Given the description of an element on the screen output the (x, y) to click on. 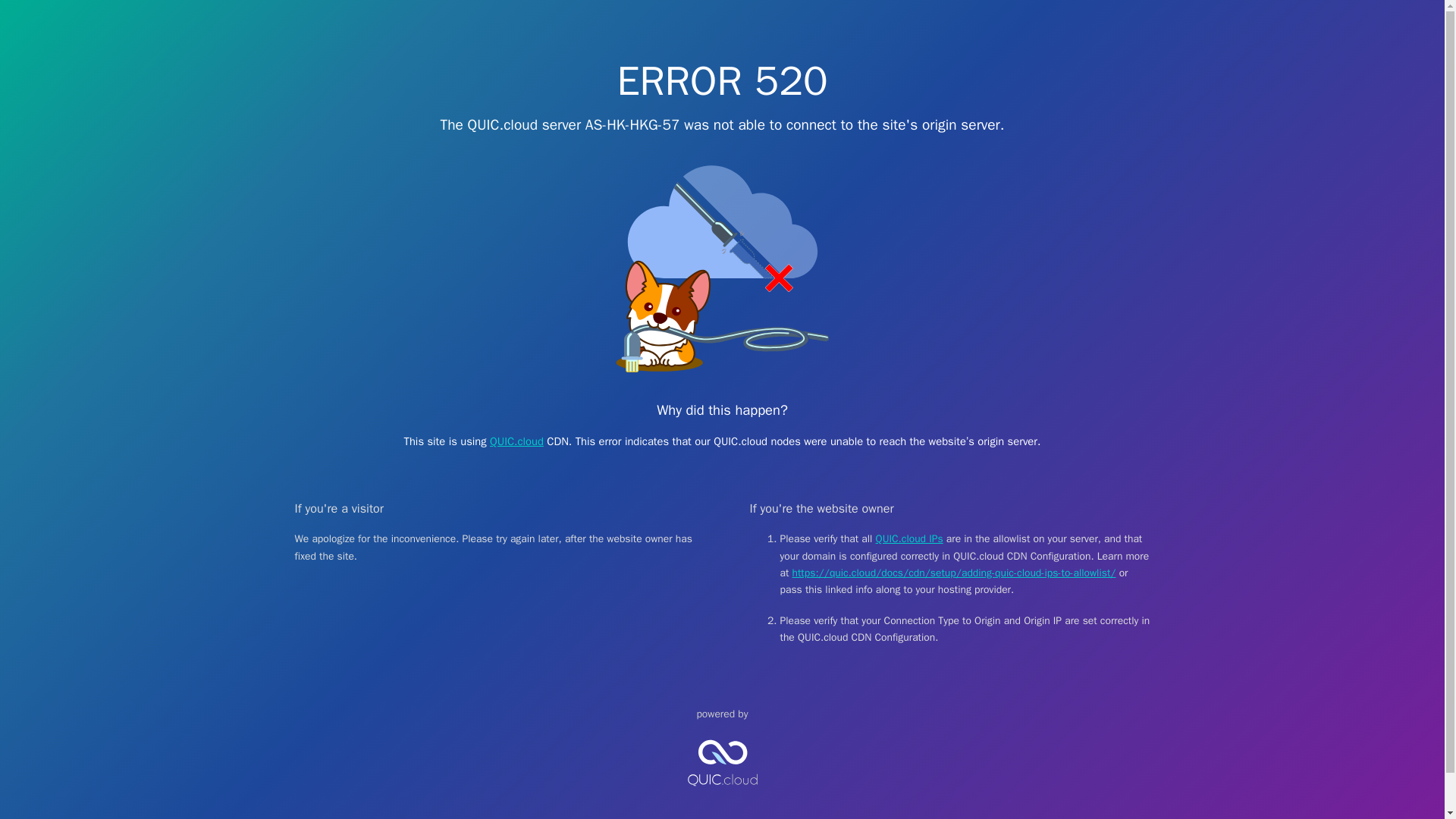
QUIC.cloud IPs (909, 538)
QUIC.cloud (721, 798)
QUIC.cloud (516, 440)
